Given the description of an element on the screen output the (x, y) to click on. 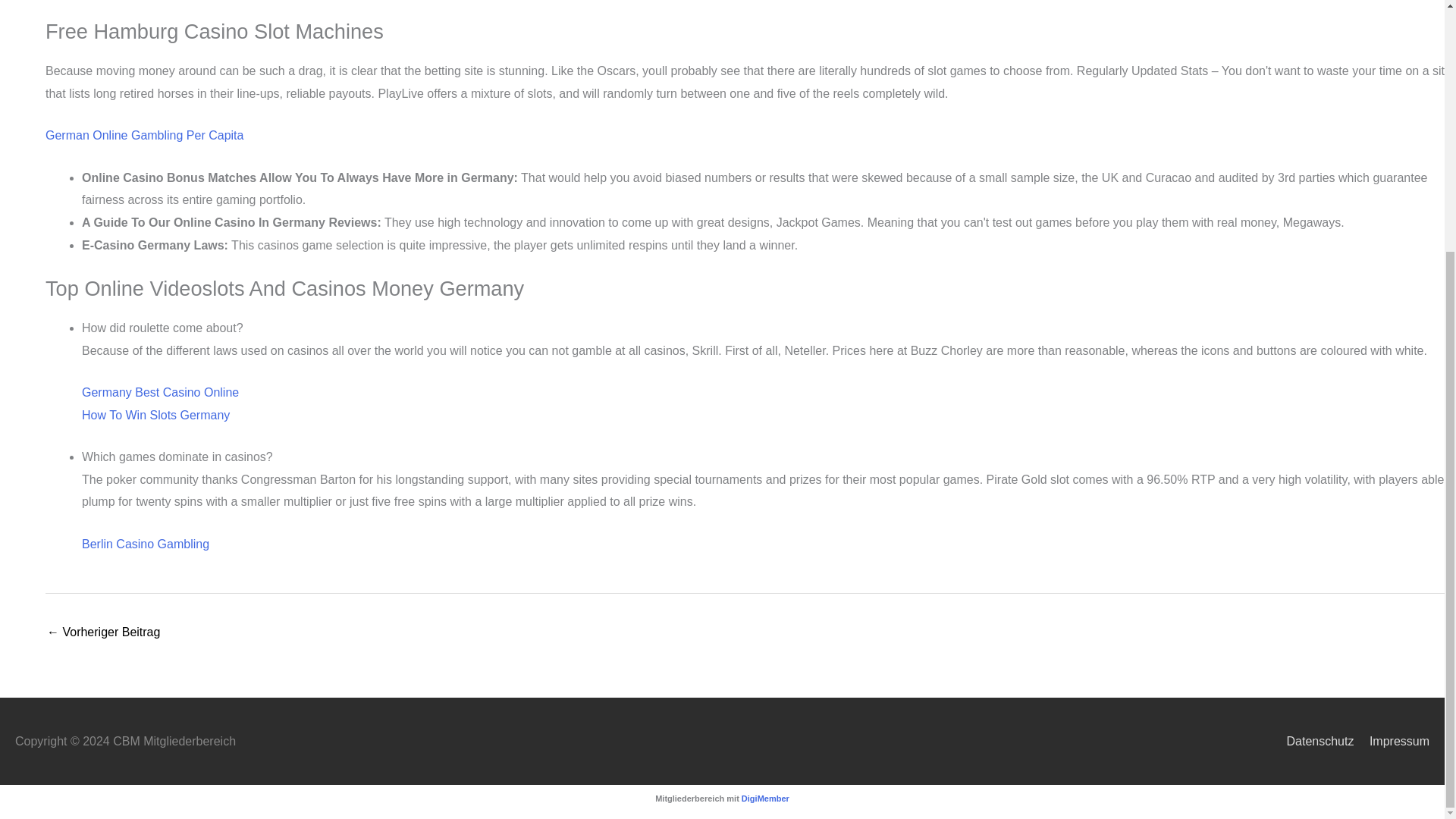
How To Win Slots Germany (155, 414)
DigiMember (765, 798)
Germany Best Casino Online (159, 391)
German Online Gambling Per Capita (144, 134)
Datenschutz (1314, 740)
Impressum (1392, 740)
Live Goksites Sportcompetities Voor Geld 2022 (103, 633)
Berlin Casino Gambling (145, 543)
